Given the description of an element on the screen output the (x, y) to click on. 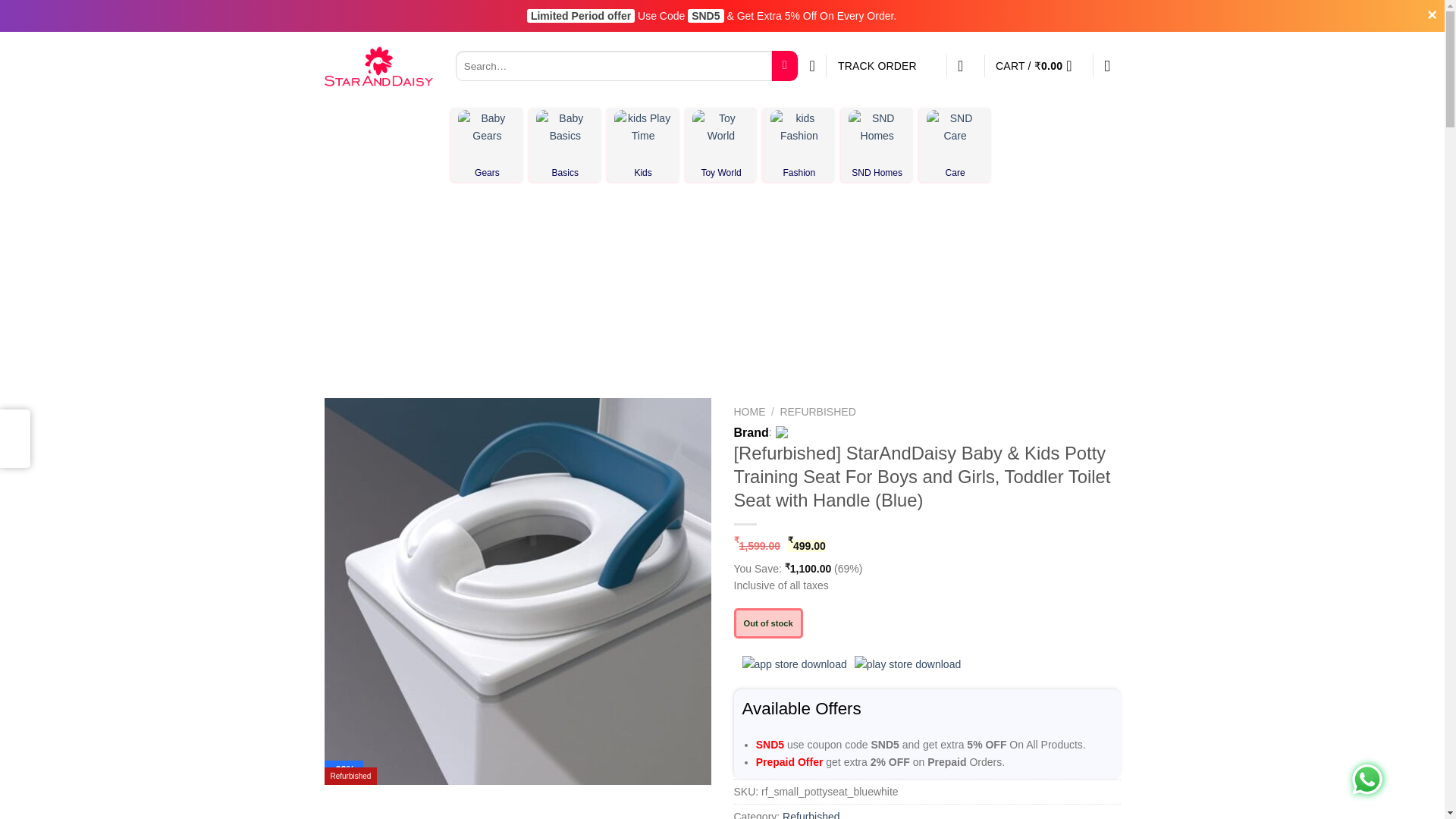
Cart (1038, 65)
Track Order (886, 65)
Search (784, 65)
StarAndDaisy (378, 65)
TRACK ORDER  (886, 65)
StarAndDaisy (800, 433)
